Given the description of an element on the screen output the (x, y) to click on. 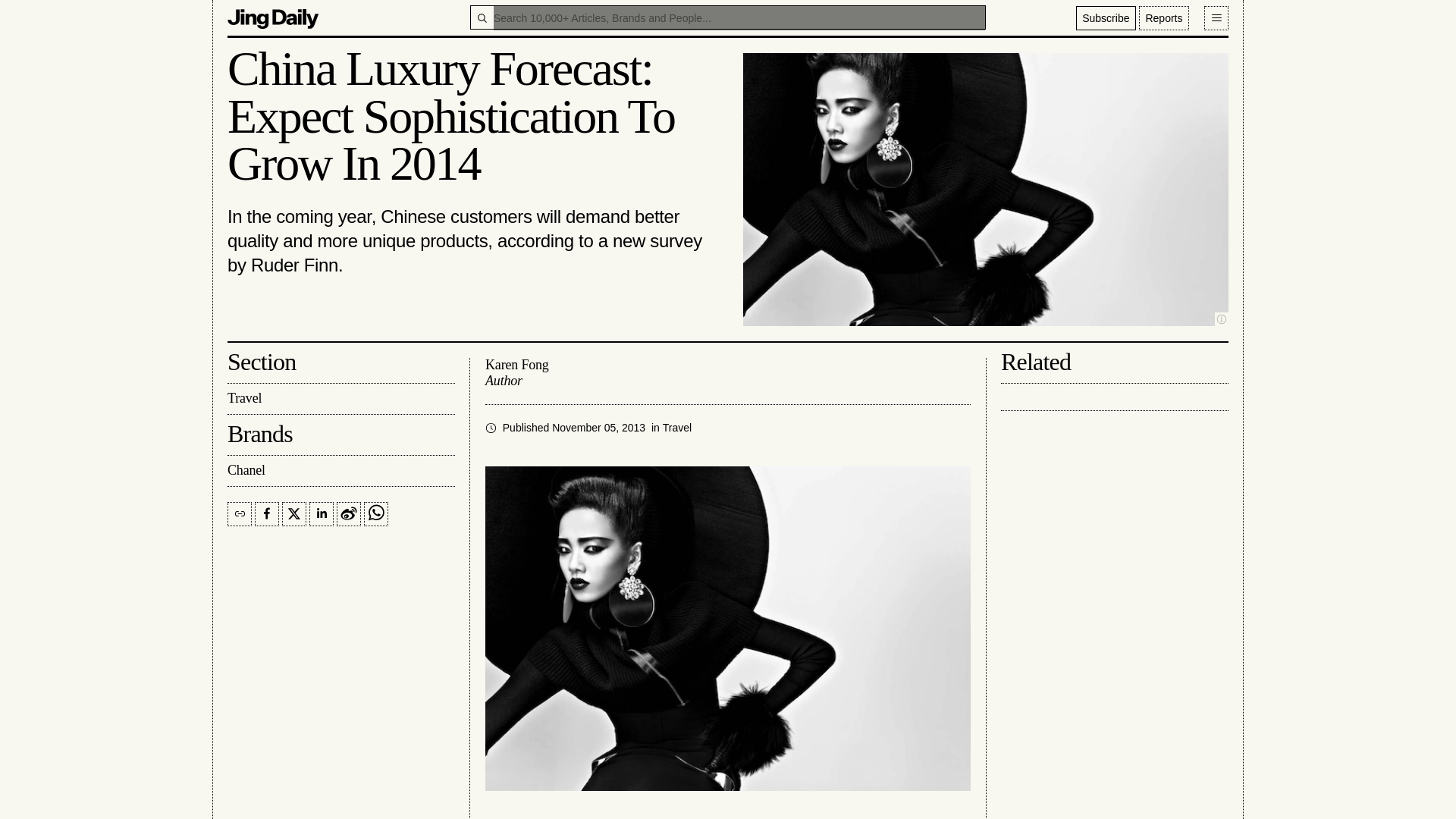
Jing Daily (272, 17)
Travel (676, 427)
Travel (340, 399)
Reports (1163, 17)
Travel (676, 427)
Chanel (340, 470)
Subscribe (1105, 17)
Reports (1163, 17)
Chanel (340, 470)
